Given the description of an element on the screen output the (x, y) to click on. 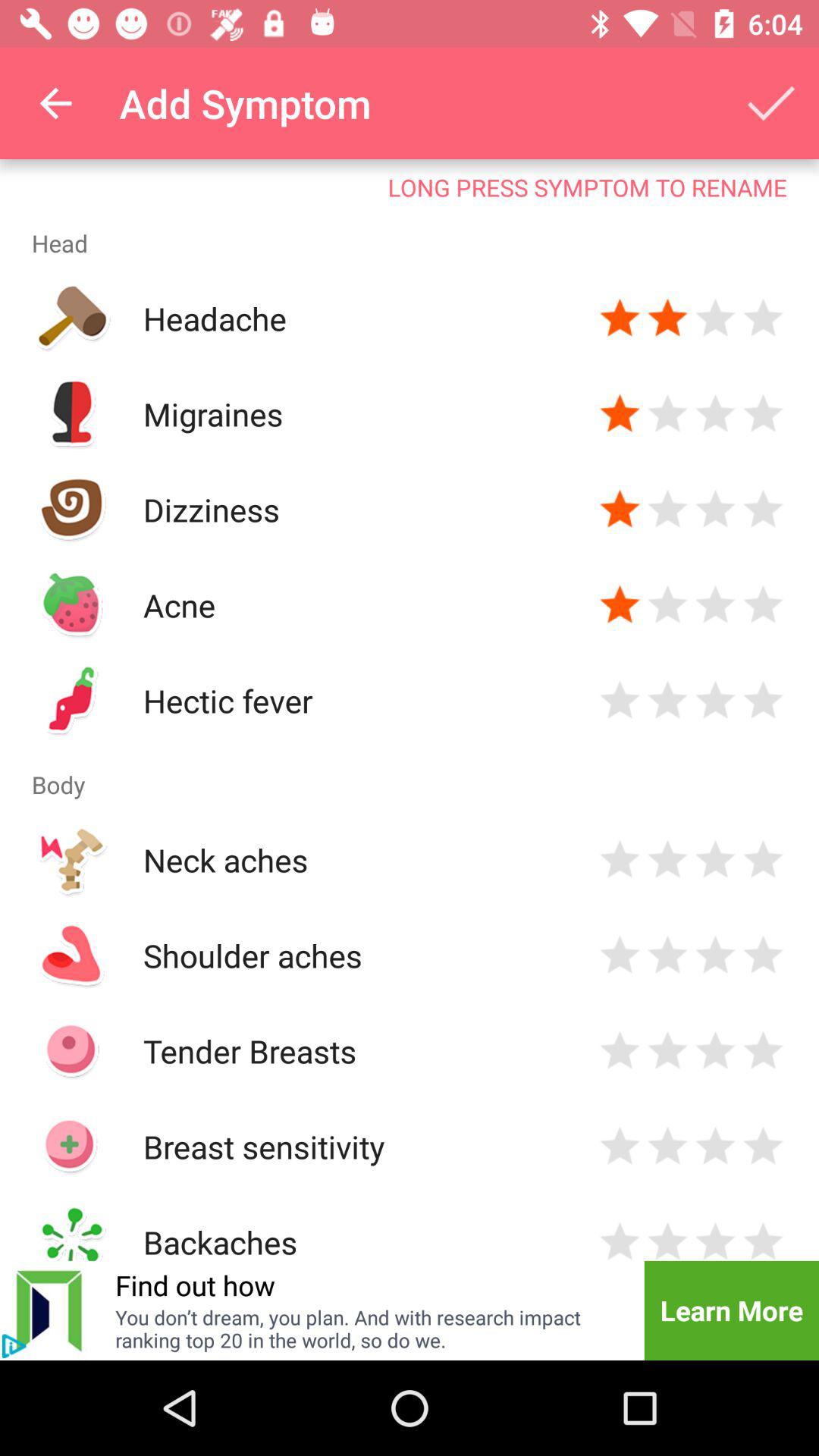
rate intensity of symptom (715, 955)
